Given the description of an element on the screen output the (x, y) to click on. 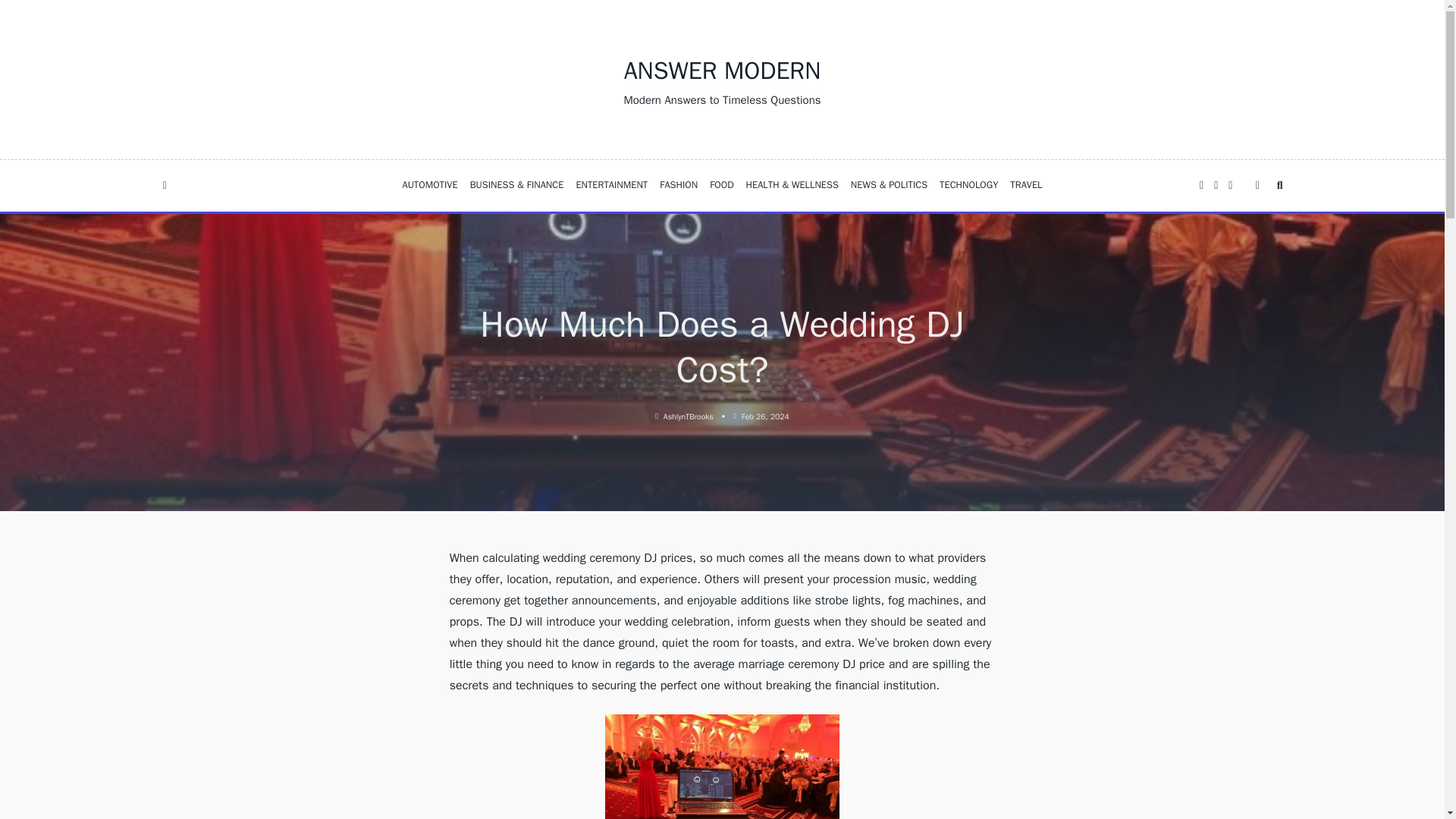
TECHNOLOGY (968, 185)
FASHION (678, 185)
TRAVEL (1026, 185)
AUTOMOTIVE (429, 185)
ANSWER MODERN (722, 70)
ENTERTAINMENT (611, 185)
FOOD (721, 185)
